Given the description of an element on the screen output the (x, y) to click on. 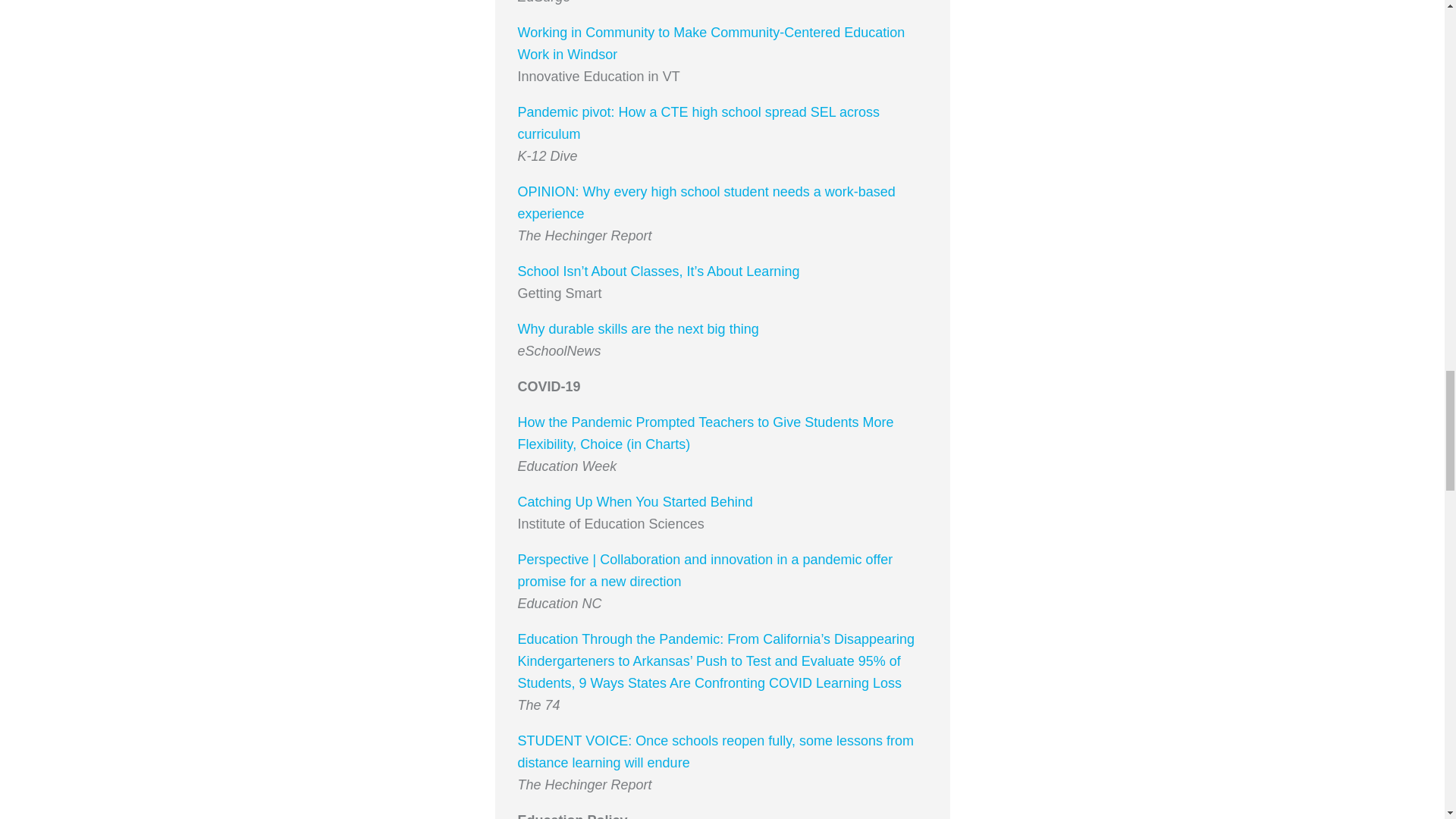
Why durable skills are the next big thing (637, 328)
Catching Up When You Started Behind (634, 501)
